Given the description of an element on the screen output the (x, y) to click on. 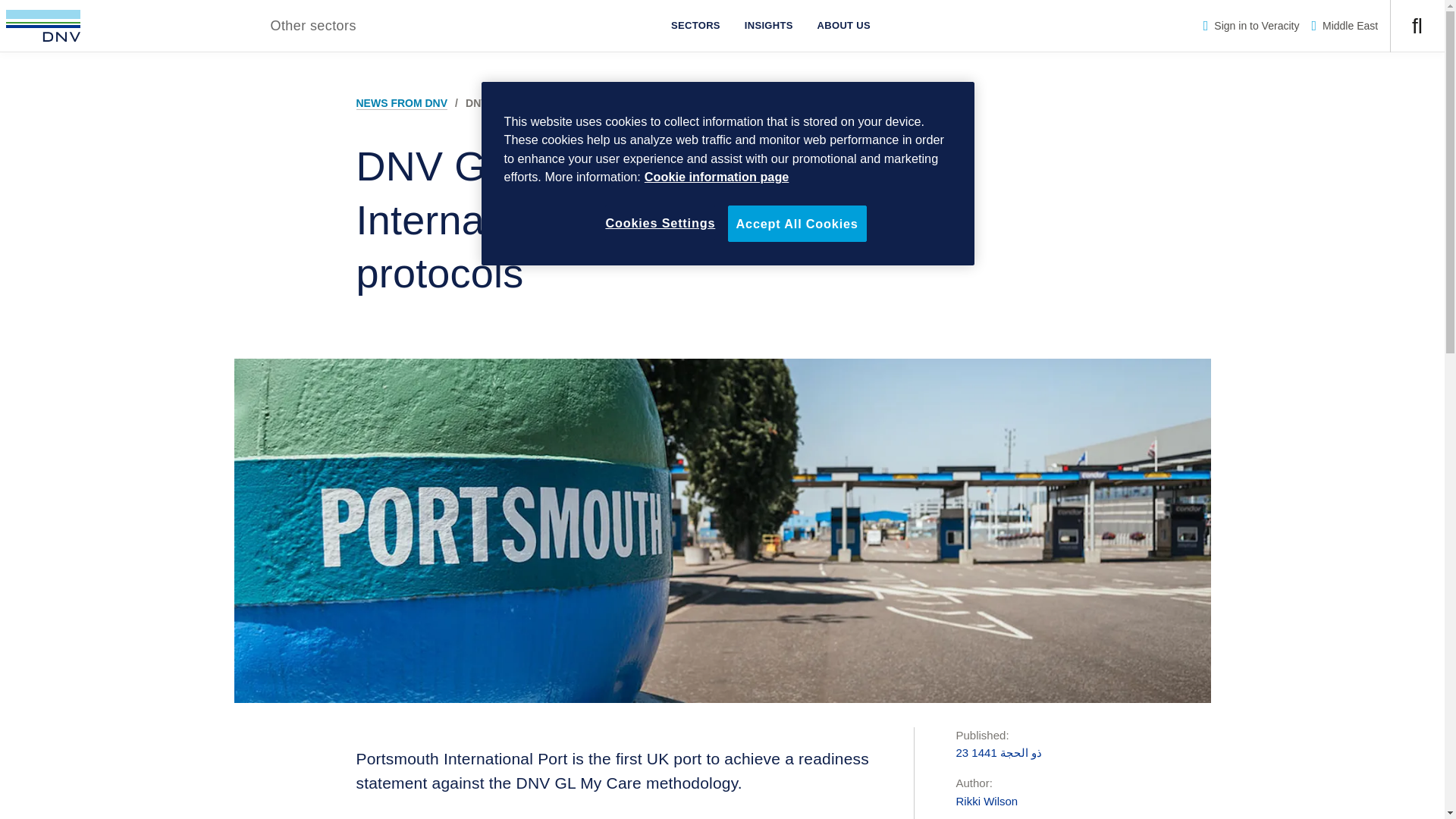
INSIGHTS (768, 25)
ABOUT US (843, 25)
SECTORS (695, 25)
